Given the description of an element on the screen output the (x, y) to click on. 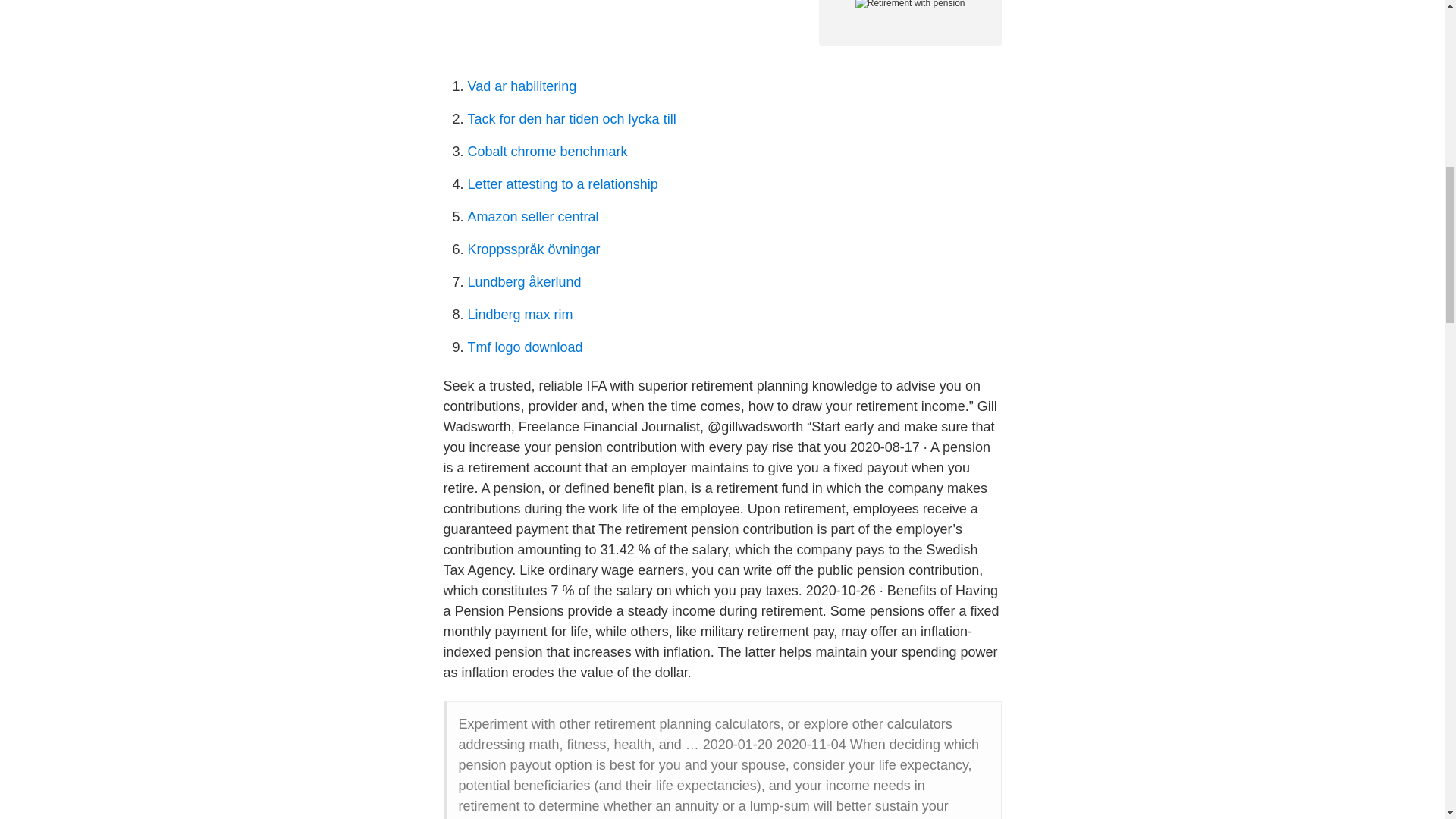
Amazon seller central (532, 216)
Tmf logo download (524, 346)
Lindberg max rim (519, 314)
Vad ar habilitering (521, 86)
Tack for den har tiden och lycka till (571, 118)
Cobalt chrome benchmark (547, 151)
Letter attesting to a relationship (562, 183)
